Given the description of an element on the screen output the (x, y) to click on. 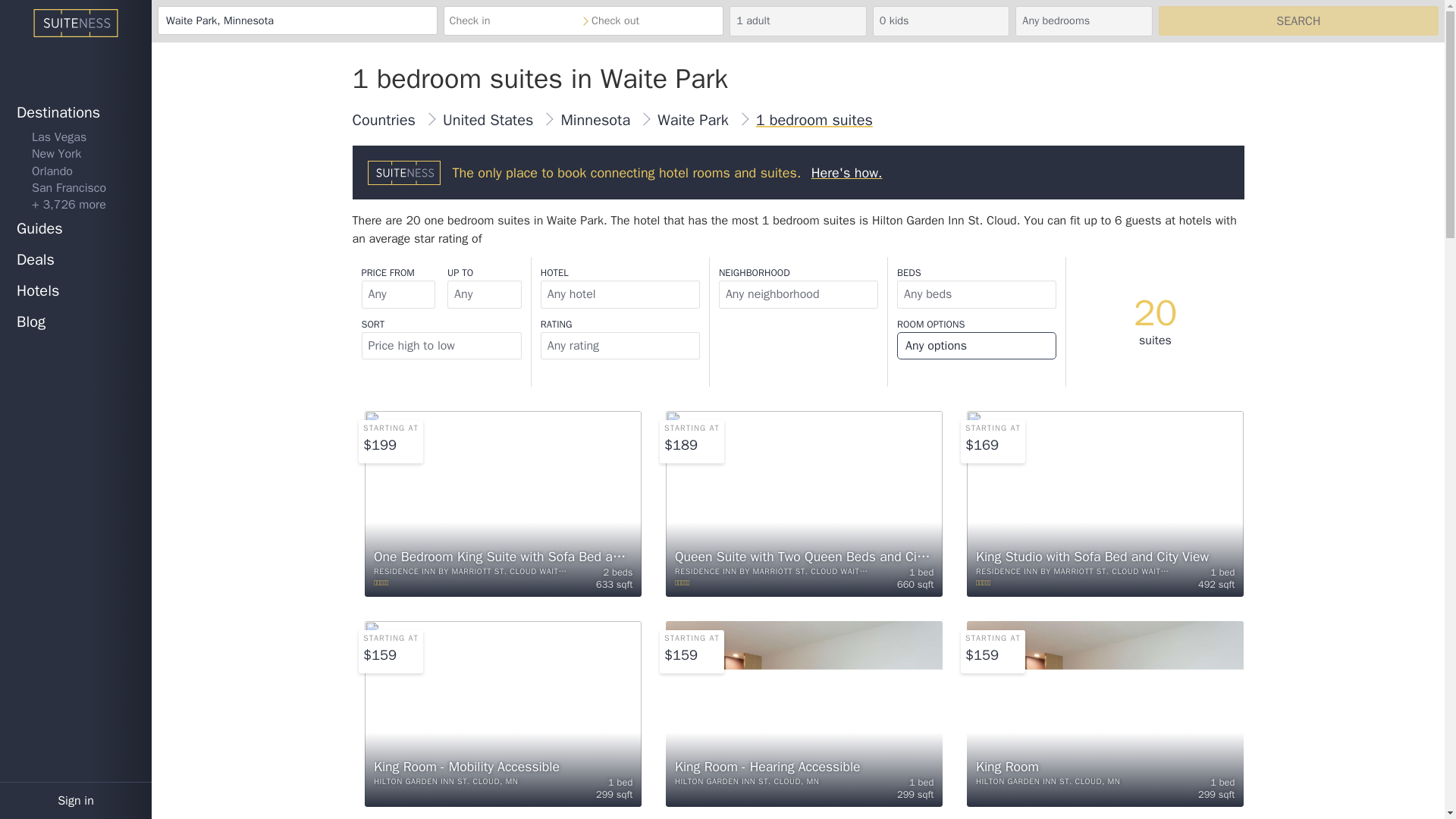
Waite Park (693, 119)
Excludes taxes or fees (389, 638)
Deals (75, 260)
Excludes taxes or fees (389, 429)
Orlando (75, 170)
Guides (75, 228)
Excludes taxes or fees (984, 654)
Search (1298, 20)
Excludes taxes or fees (992, 429)
Search (1298, 20)
Excludes taxes or fees (984, 445)
Countries (383, 119)
Hotels (75, 291)
San Francisco (75, 187)
Blog (75, 322)
